Given the description of an element on the screen output the (x, y) to click on. 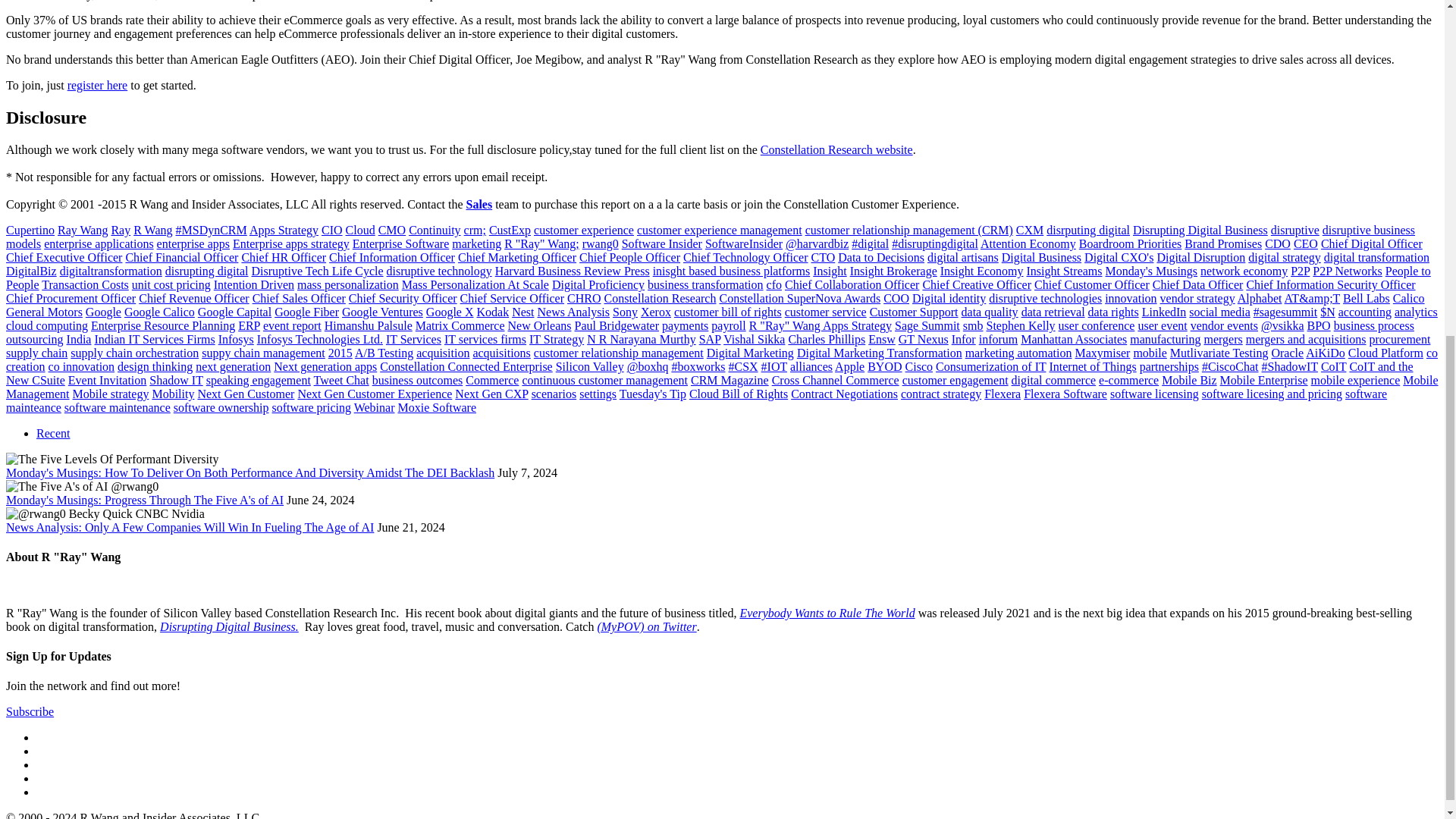
Cloud (360, 229)
Apps Strategy (283, 229)
register here (97, 84)
Ray (120, 229)
CIO (331, 229)
Ray Wang (82, 229)
R Wang (152, 229)
Constellation Research website (836, 149)
Cupertino (30, 229)
Sales (478, 204)
